Given the description of an element on the screen output the (x, y) to click on. 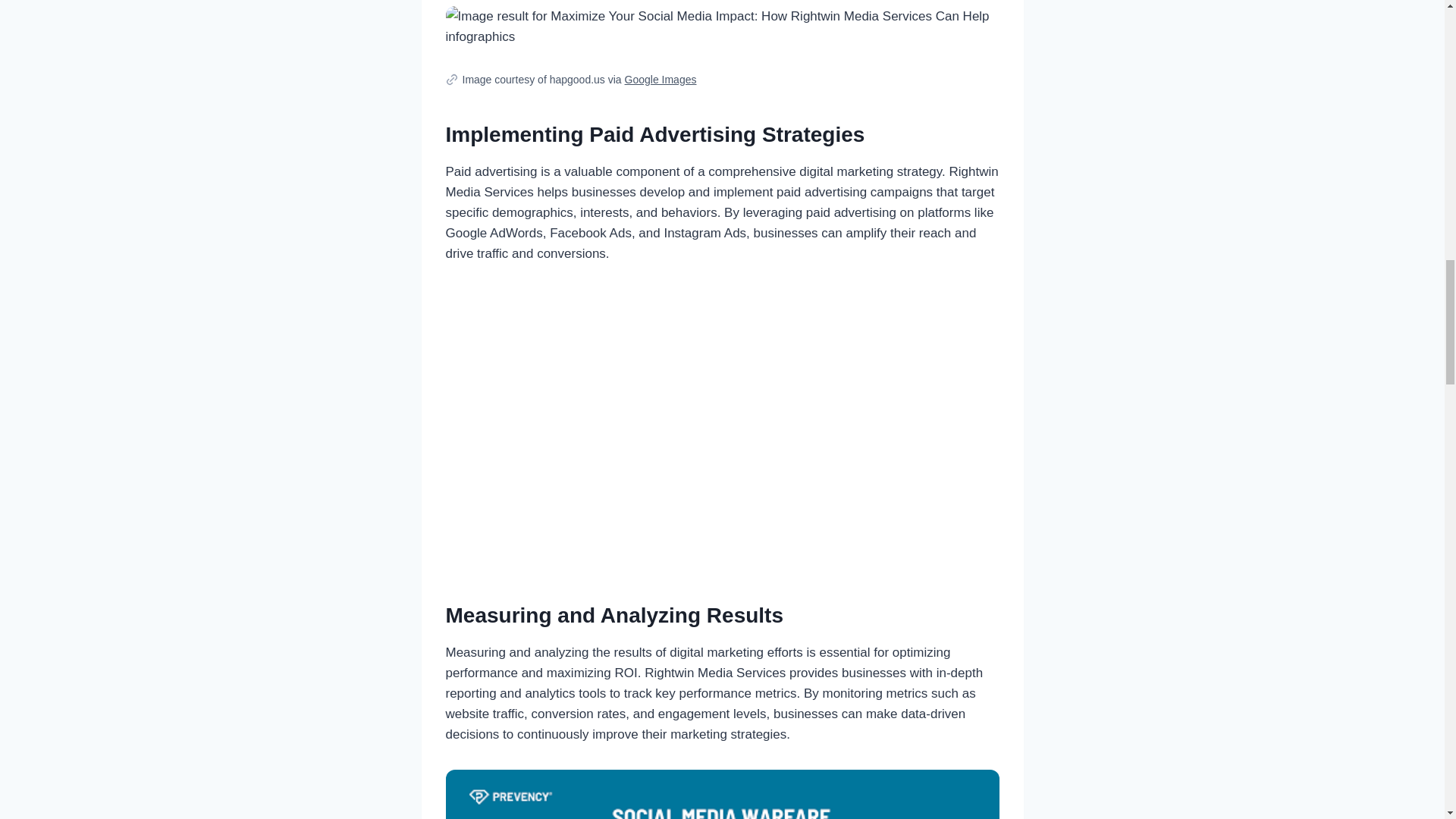
Google Images (660, 79)
